Given the description of an element on the screen output the (x, y) to click on. 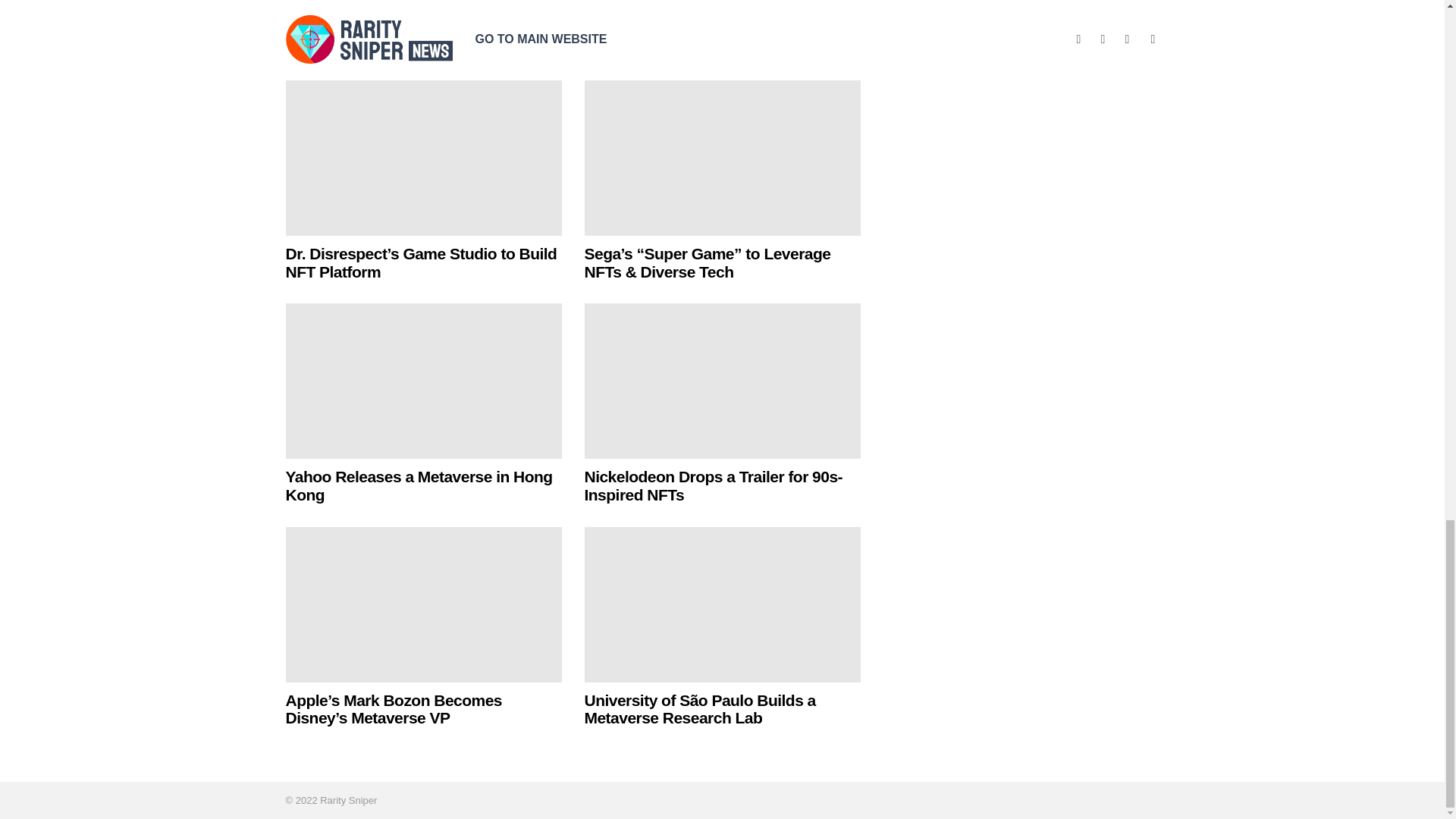
Nickelodeon Drops a Trailer for 90s-Inspired NFTs (721, 380)
Yahoo Releases a Metaverse in Hong Kong (422, 380)
Nickelodeon Drops a Trailer for 90s-Inspired NFTs (713, 485)
Yahoo Releases a Metaverse in Hong Kong (418, 485)
